Given the description of an element on the screen output the (x, y) to click on. 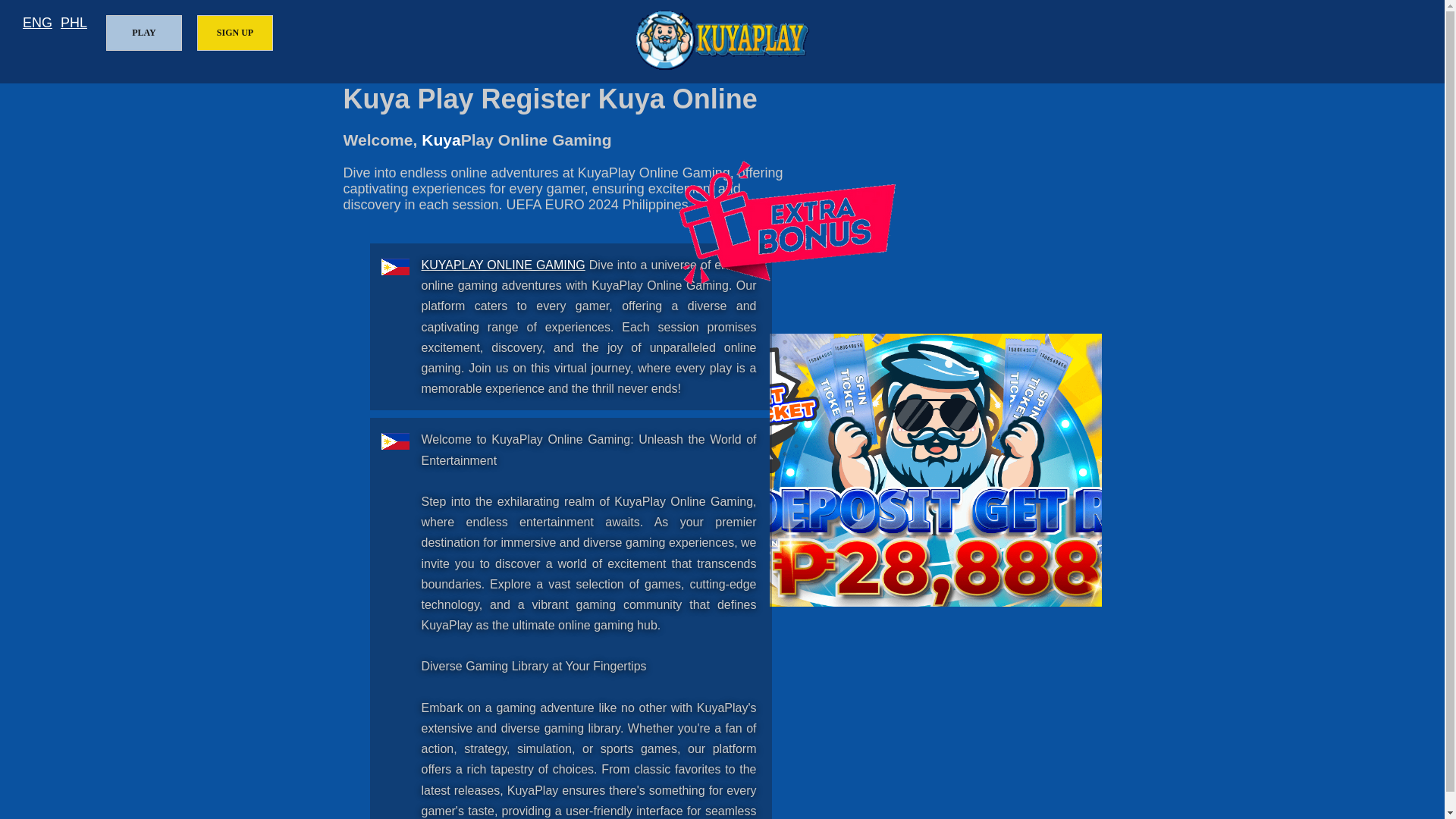
ENG (37, 23)
PLAY (144, 32)
Filipino (74, 23)
English (37, 23)
KuyaPlay Online Gaming (503, 264)
SIGN UP (234, 32)
KUYAPLAY ONLINE GAMING (503, 264)
PHL (74, 23)
Kuyaplay (721, 39)
